Given the description of an element on the screen output the (x, y) to click on. 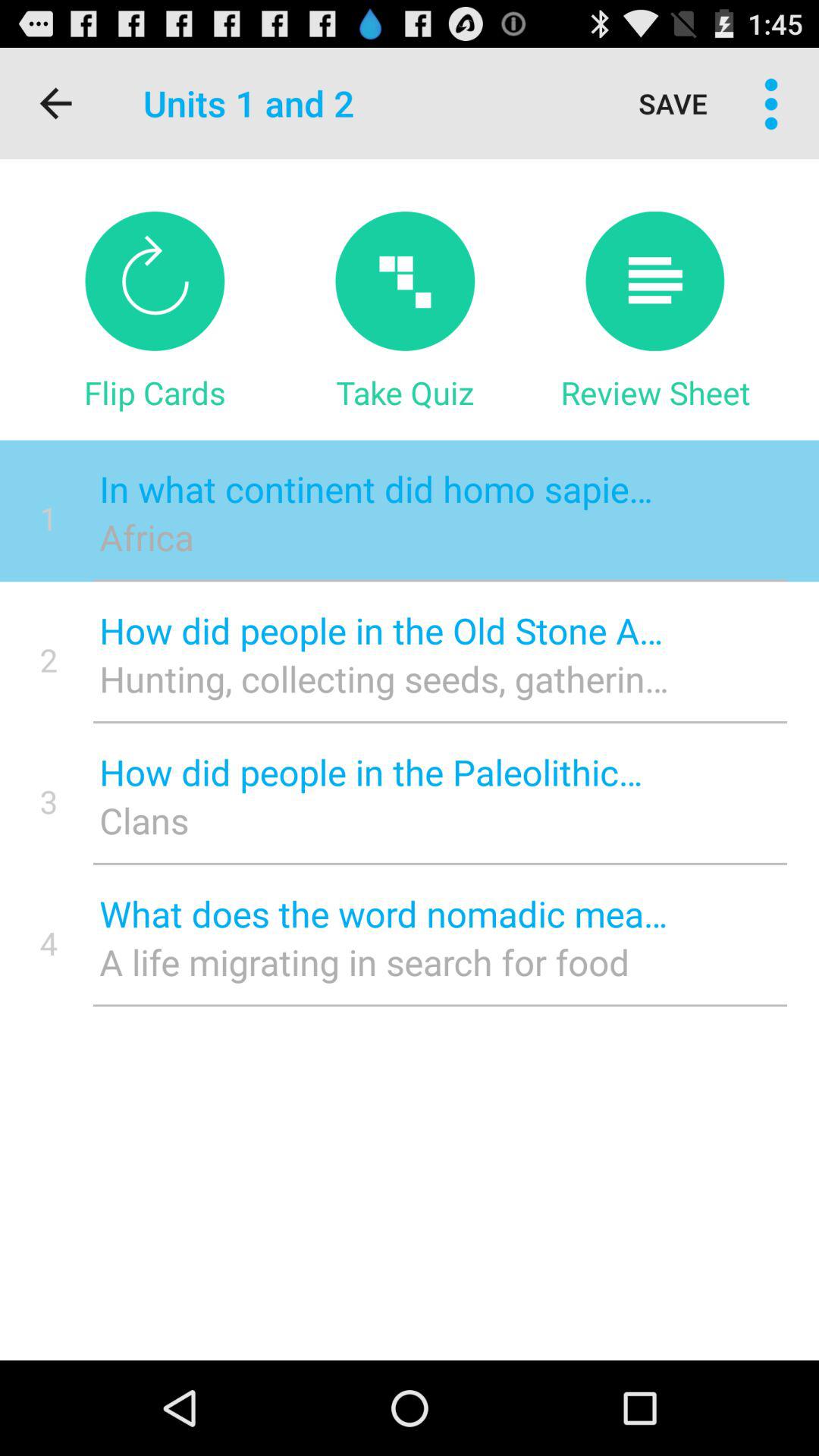
turn off icon above review sheet (655, 280)
